Given the description of an element on the screen output the (x, y) to click on. 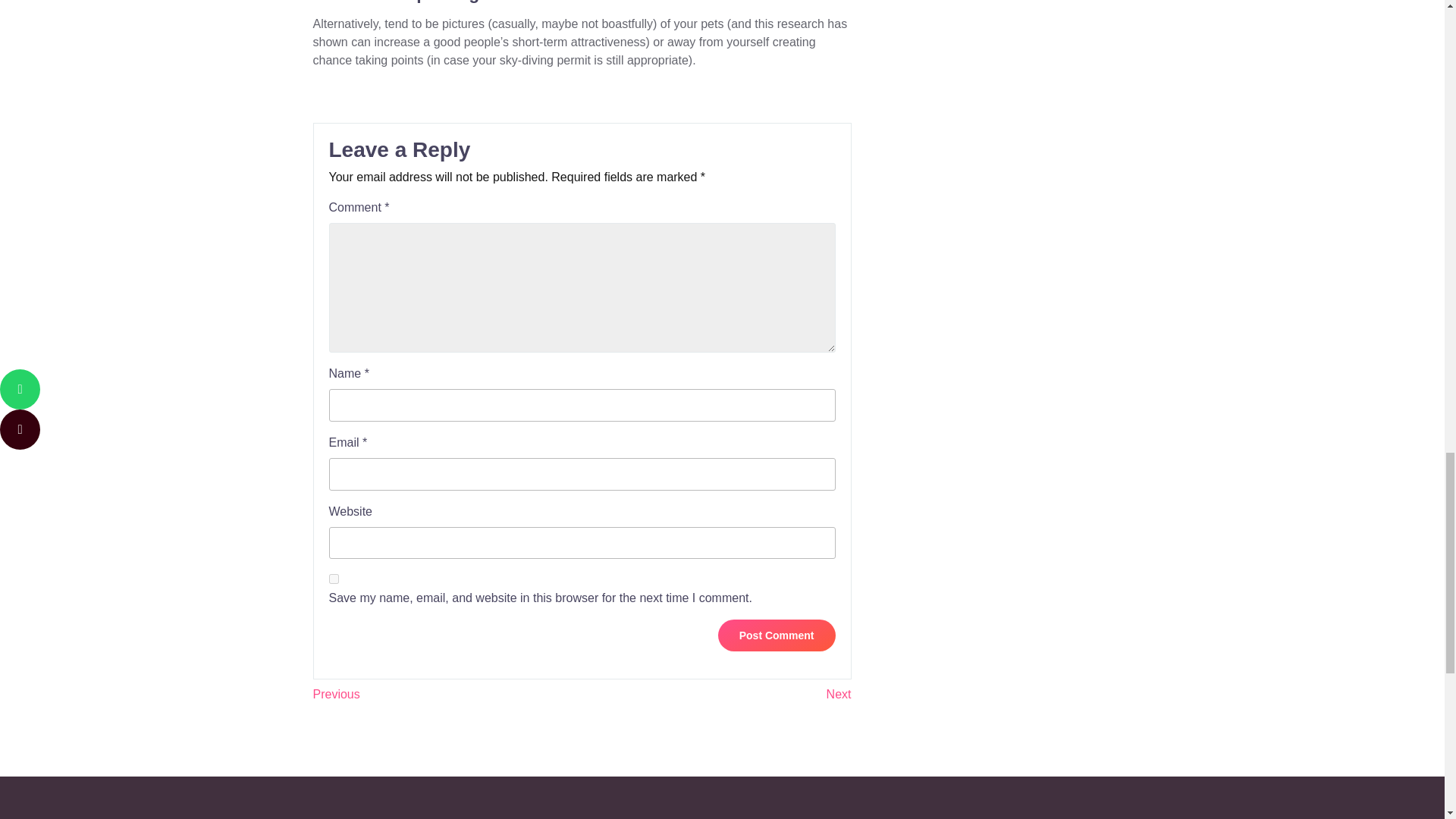
yes (334, 578)
Post Comment (776, 635)
